Given the description of an element on the screen output the (x, y) to click on. 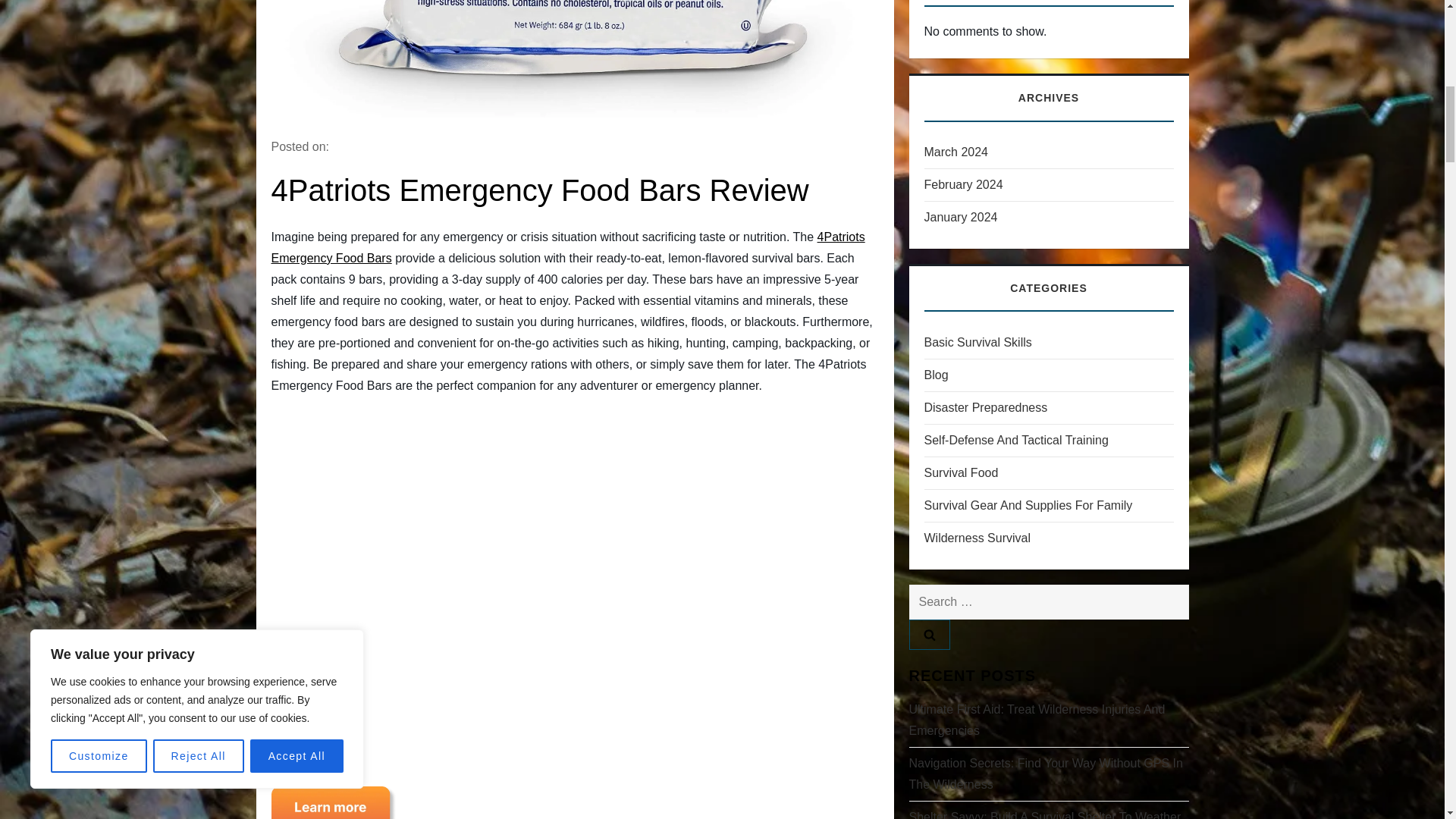
4Patriots Emergency Food Bars (567, 247)
